Given the description of an element on the screen output the (x, y) to click on. 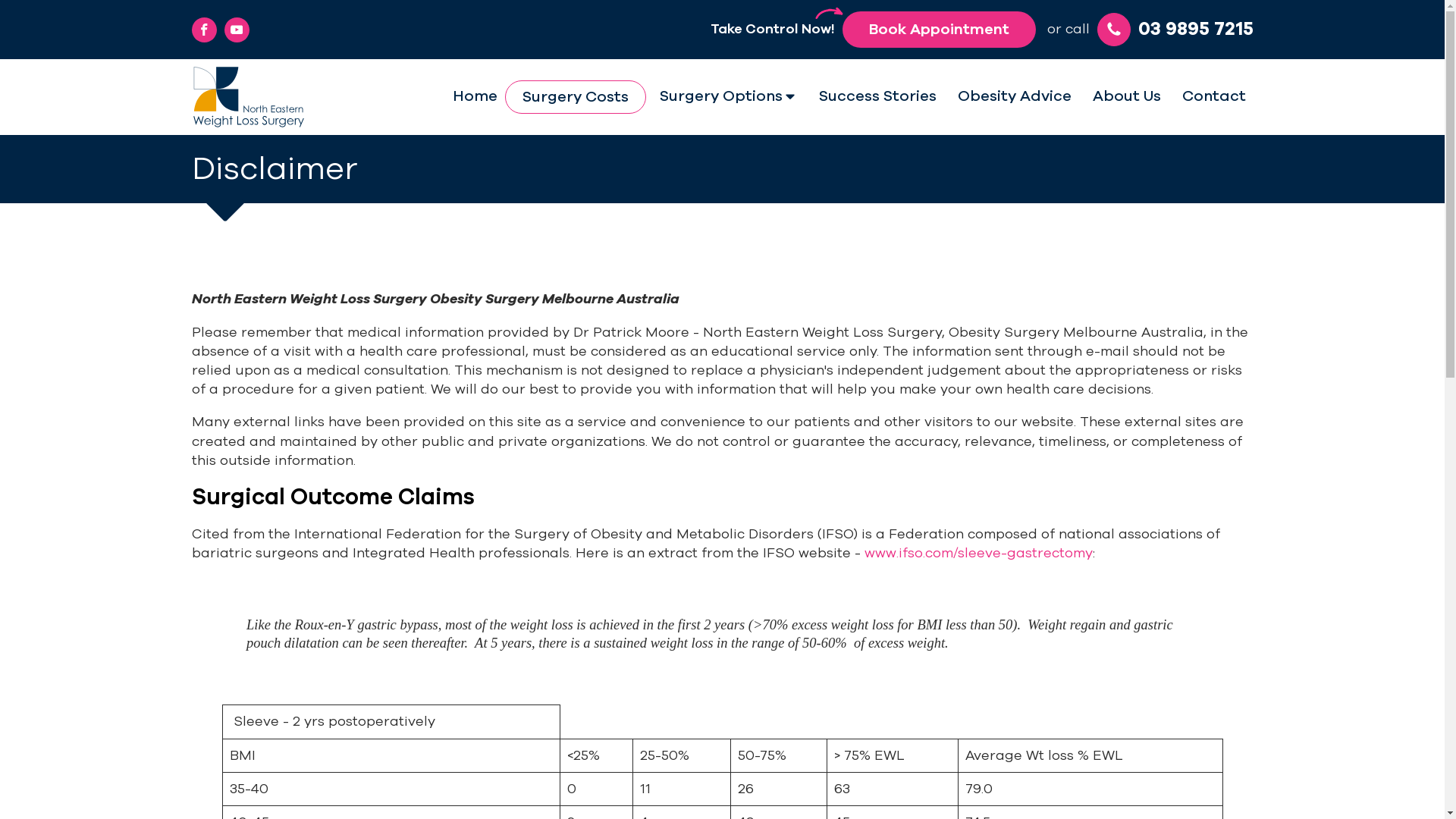
About Us Element type: text (1125, 95)
Surgery Options Element type: text (728, 95)
Contact Element type: text (1212, 95)
03 9895 7215 Element type: text (1174, 29)
Book Appointment Element type: text (938, 29)
www.ifso.com/sleeve-gastrectomy Element type: text (978, 552)
Surgery Costs Element type: text (574, 96)
Home Element type: text (474, 95)
Obesity Advice Element type: text (1013, 95)
Success Stories Element type: text (877, 95)
